Given the description of an element on the screen output the (x, y) to click on. 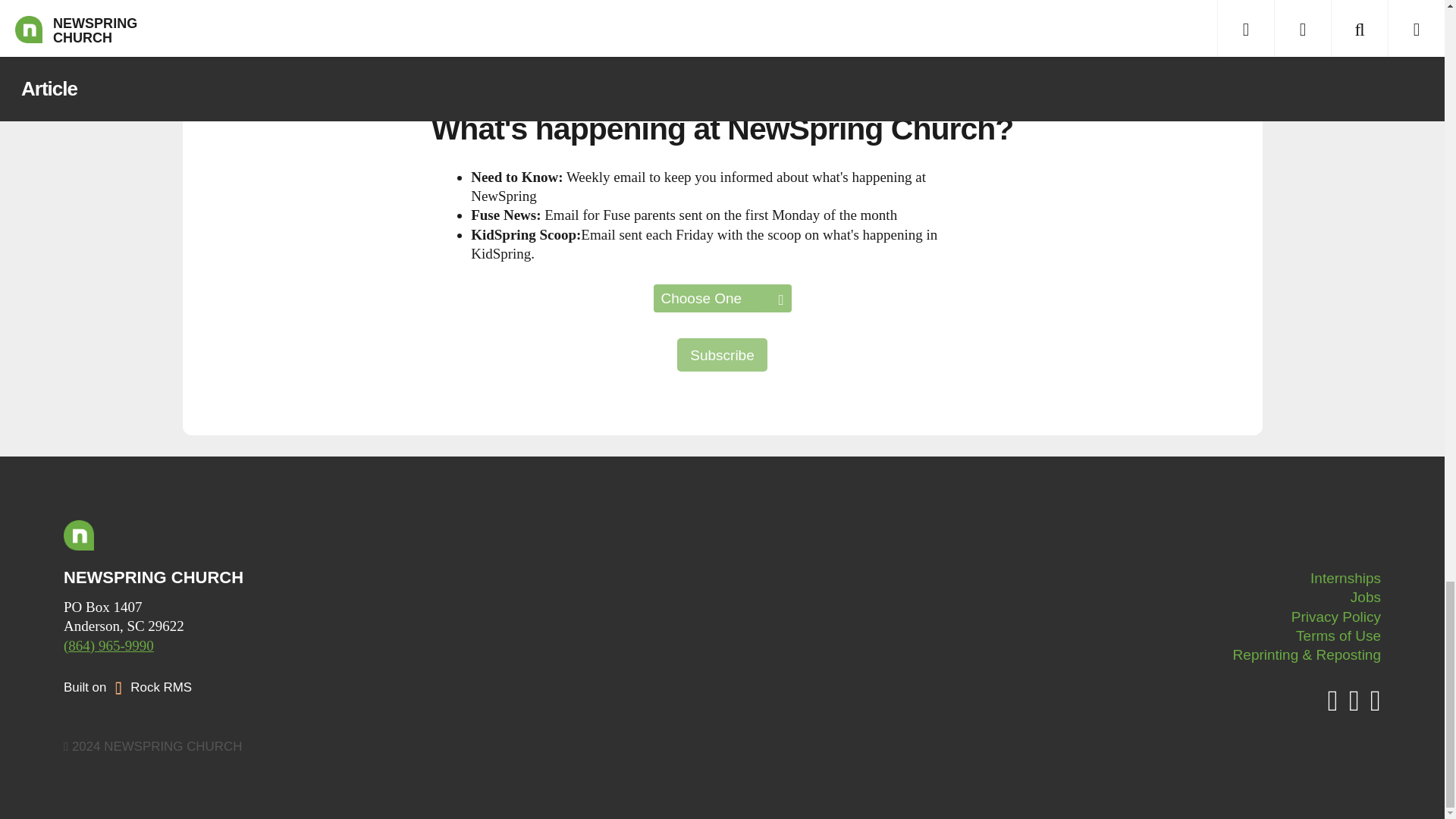
Subscribe (722, 354)
